Given the description of an element on the screen output the (x, y) to click on. 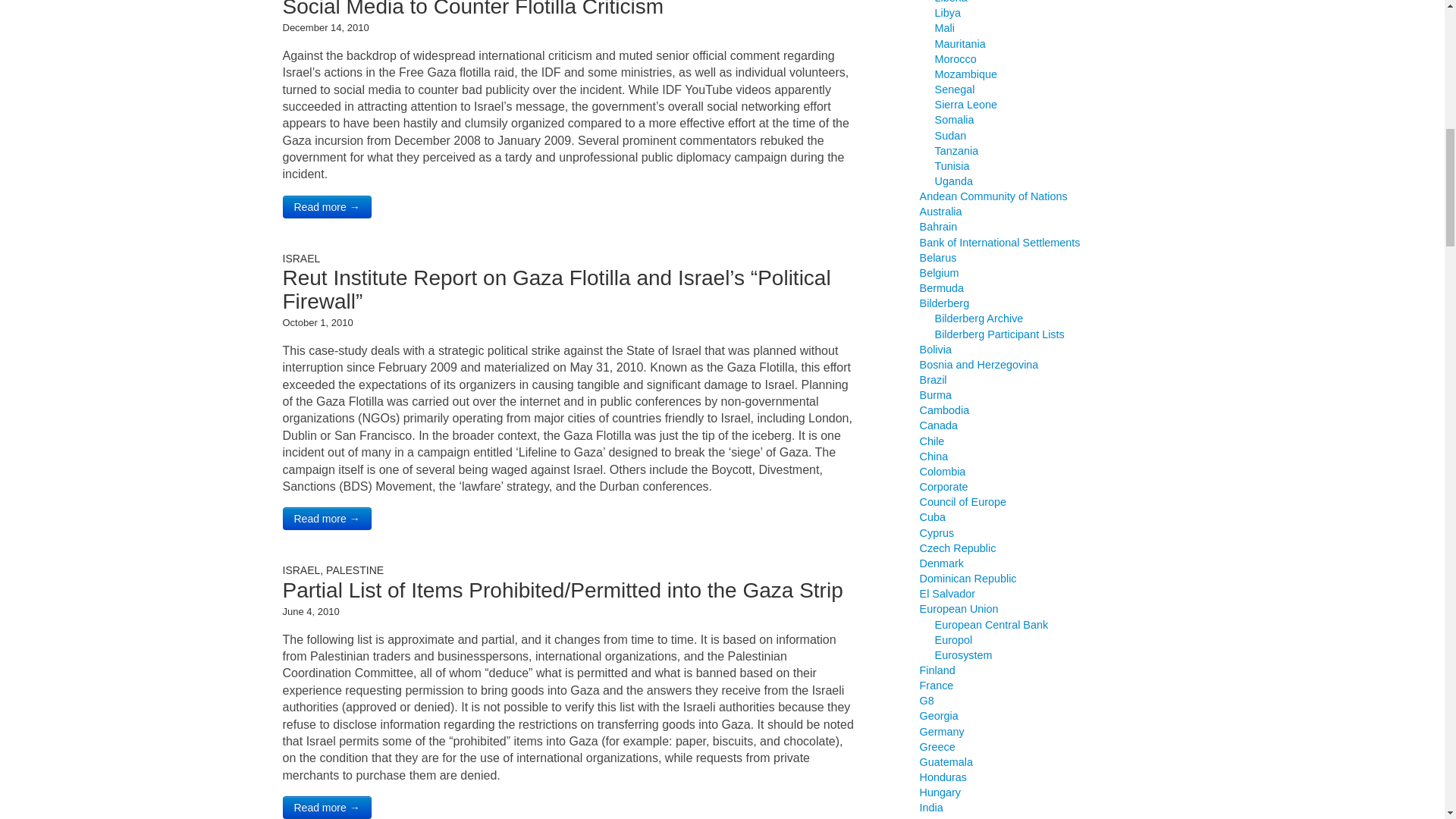
ISRAEL (301, 258)
October 1, 2010 (317, 322)
December 14, 2010 (325, 27)
June 4, 2010 (310, 611)
ISRAEL (301, 570)
PALESTINE (355, 570)
